Given the description of an element on the screen output the (x, y) to click on. 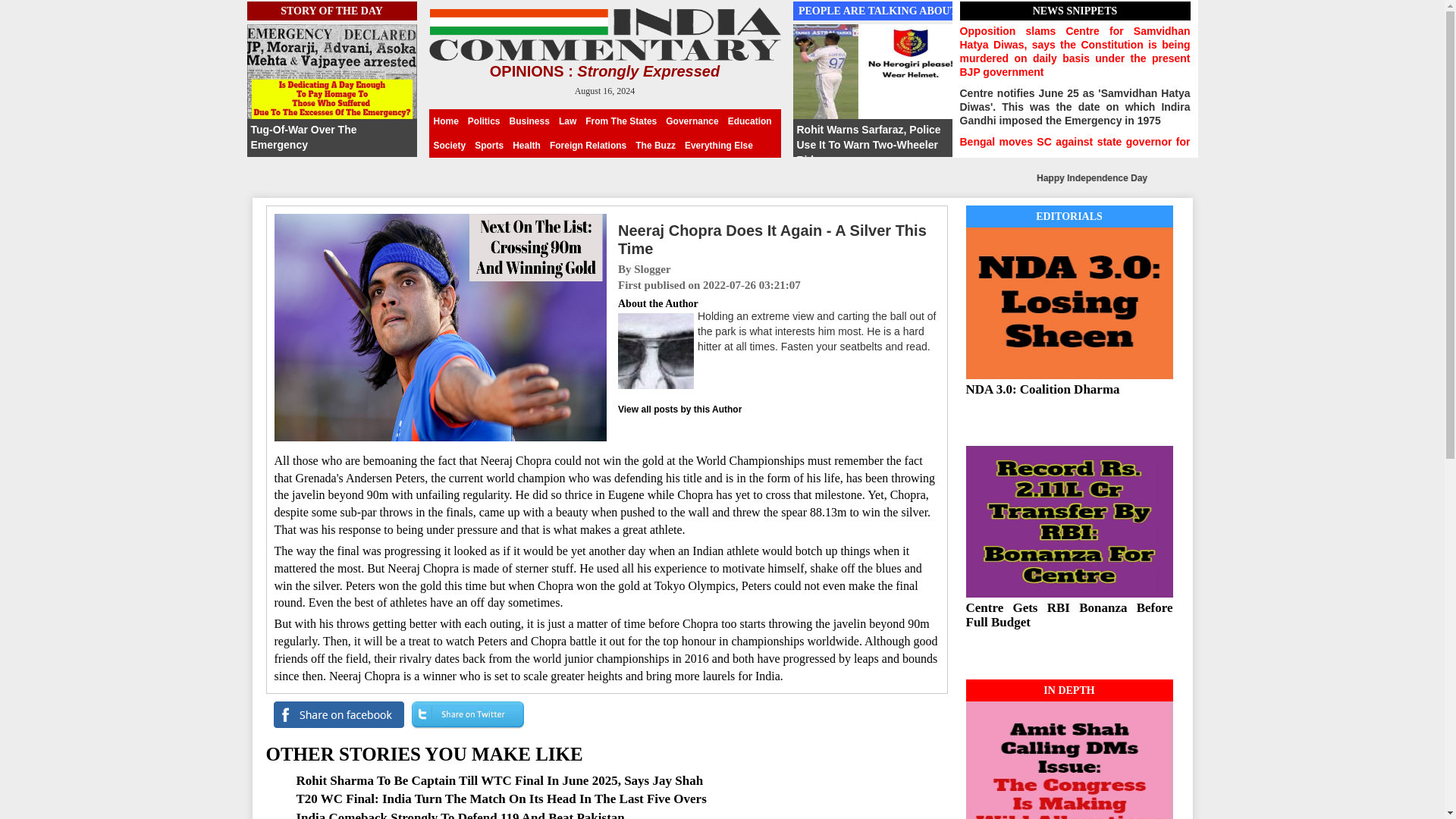
The Buzz (654, 145)
Politics (484, 120)
Home (446, 120)
Click to share this post on Twitter (463, 713)
Everything Else (718, 145)
India Comeback Strongly To Defend 119 And Beat Pakistan (459, 814)
Education (749, 120)
From The States (620, 120)
Society (449, 145)
